Given the description of an element on the screen output the (x, y) to click on. 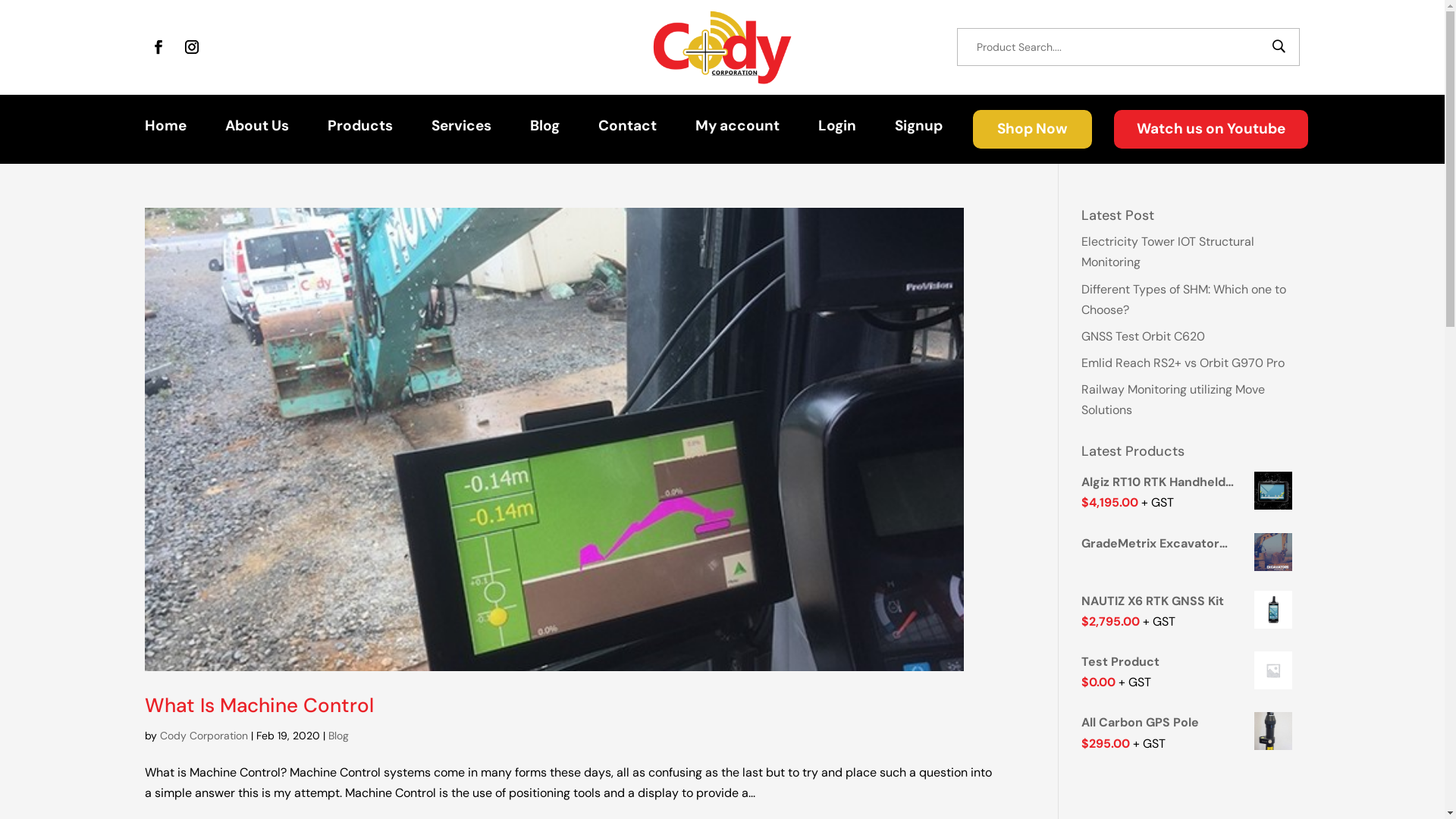
Services Element type: text (461, 129)
GradeMetrix Excavator System Element type: text (1190, 543)
Cody Corporation Element type: text (203, 735)
Follow on Facebook Element type: hover (158, 46)
Blog Element type: text (337, 735)
My account Element type: text (737, 129)
Products Element type: text (359, 129)
GNSS Test Orbit C620 Element type: text (1142, 336)
Watch us on Youtube Element type: text (1210, 129)
What Is Machine Control Element type: text (258, 705)
Different Types of SHM: Which one to Choose? Element type: text (1183, 299)
About Us Element type: text (256, 129)
All Carbon GPS Pole Element type: text (1190, 722)
Algiz RT10 RTK Handheld Tablet Element type: text (1190, 481)
Test Product Element type: text (1190, 661)
Contact Element type: text (627, 129)
Follow on Instagram Element type: hover (191, 46)
Home Element type: text (164, 129)
Shop Now Element type: text (1032, 129)
NAUTIZ X6 RTK GNSS Kit Element type: text (1190, 600)
Railway Monitoring utilizing Move Solutions Element type: text (1172, 399)
Signup Element type: text (918, 129)
cody-corp-logo Element type: hover (722, 47)
Emlid Reach RS2+ vs Orbit G970 Pro Element type: text (1182, 362)
Login Element type: text (837, 129)
Blog Element type: text (544, 129)
Electricity Tower IOT Structural Monitoring Element type: text (1167, 251)
